Given the description of an element on the screen output the (x, y) to click on. 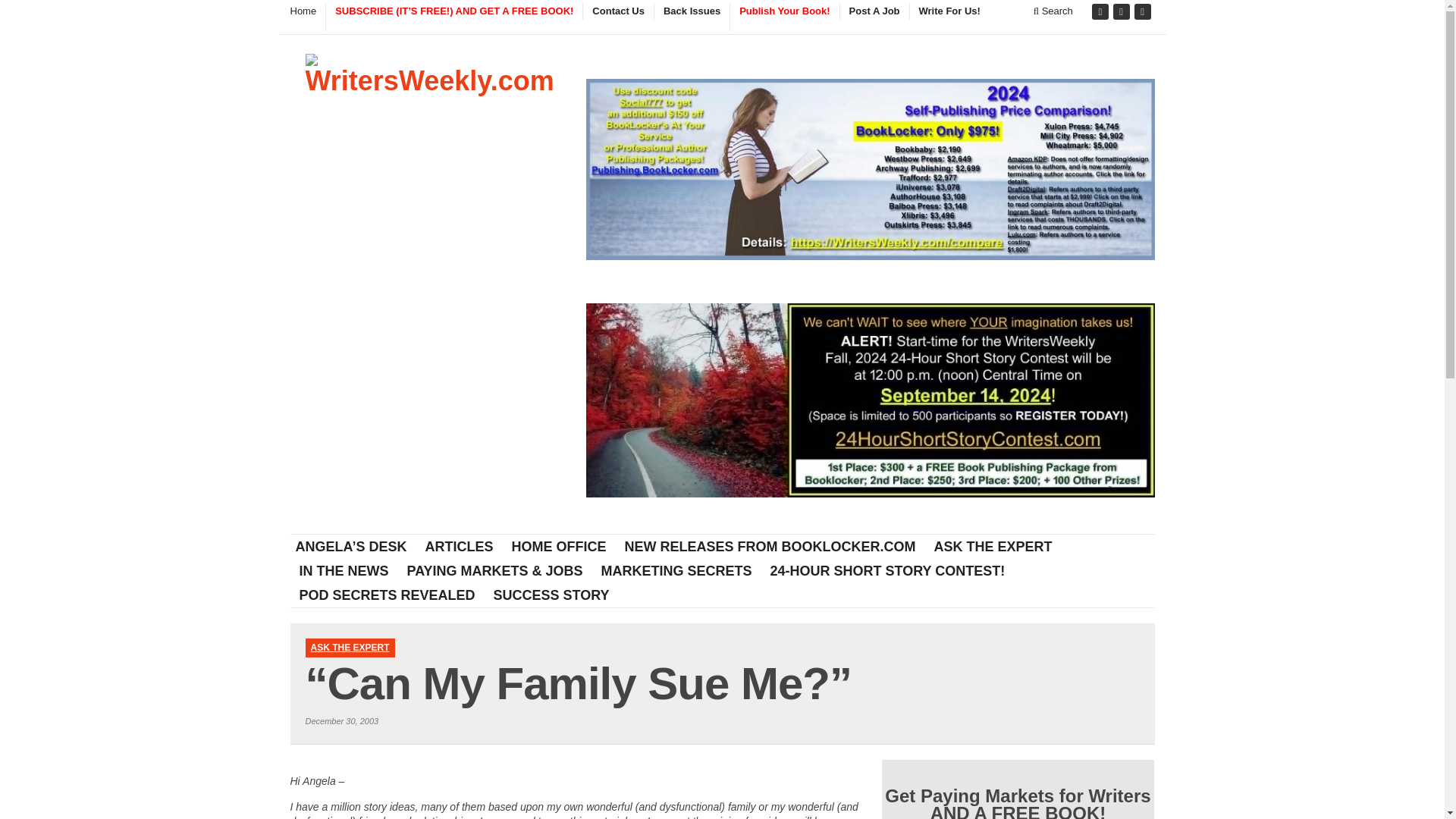
Site feed (1144, 11)
MARKETING SECRETS (676, 570)
NEW RELEASES FROM BOOKLOCKER.COM (769, 546)
Back Issues (691, 11)
24-HOUR SHORT STORY CONTEST! (887, 570)
Search (1053, 11)
SUCCESS STORY (551, 595)
Print Friendly (573, 766)
IN THE NEWS (343, 570)
